Given the description of an element on the screen output the (x, y) to click on. 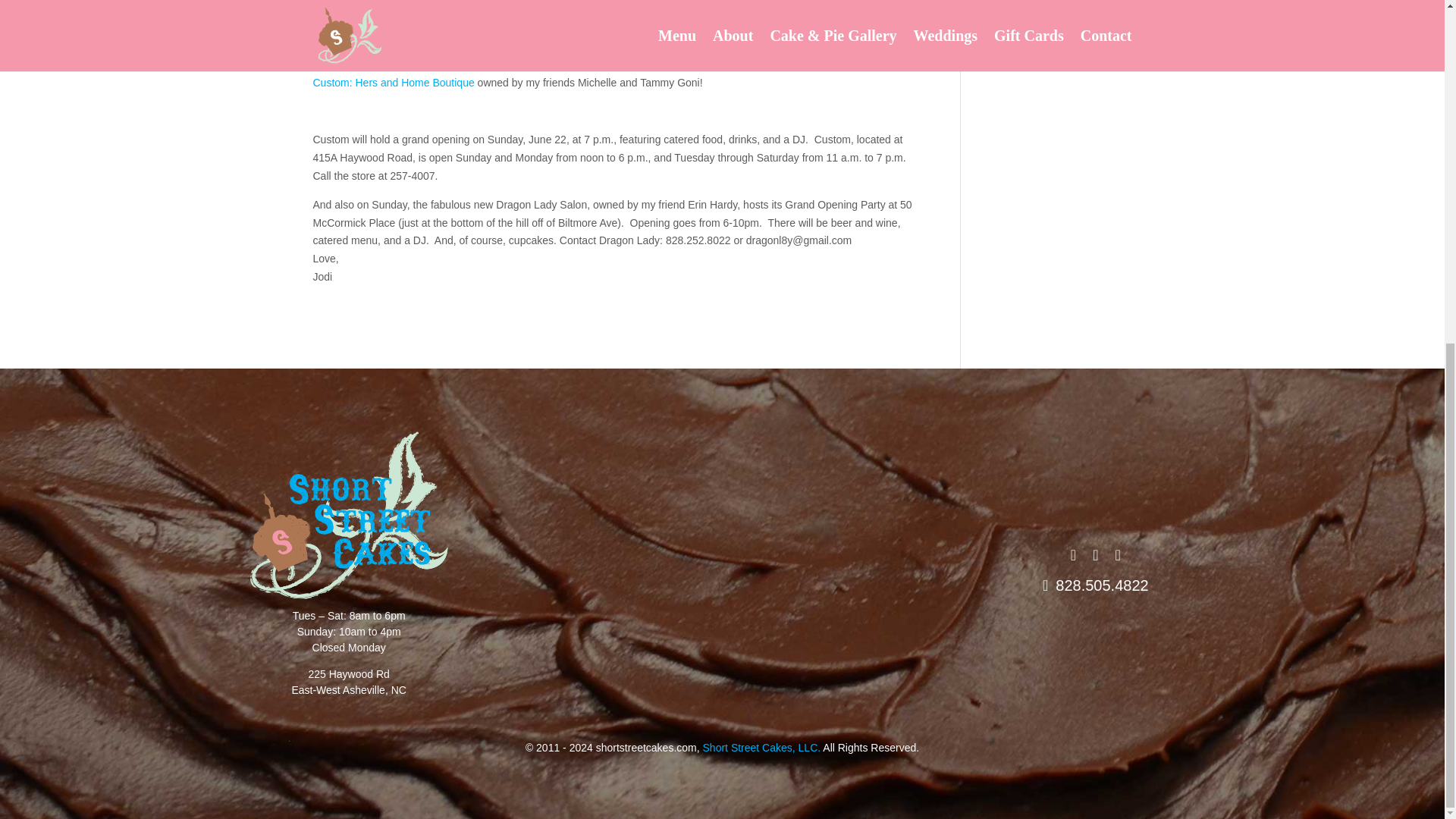
Short Street Cakes, LLC. (762, 747)
Custom: Hers and Home Boutique (393, 82)
ShortStreetCakes-logo (348, 682)
